Given the description of an element on the screen output the (x, y) to click on. 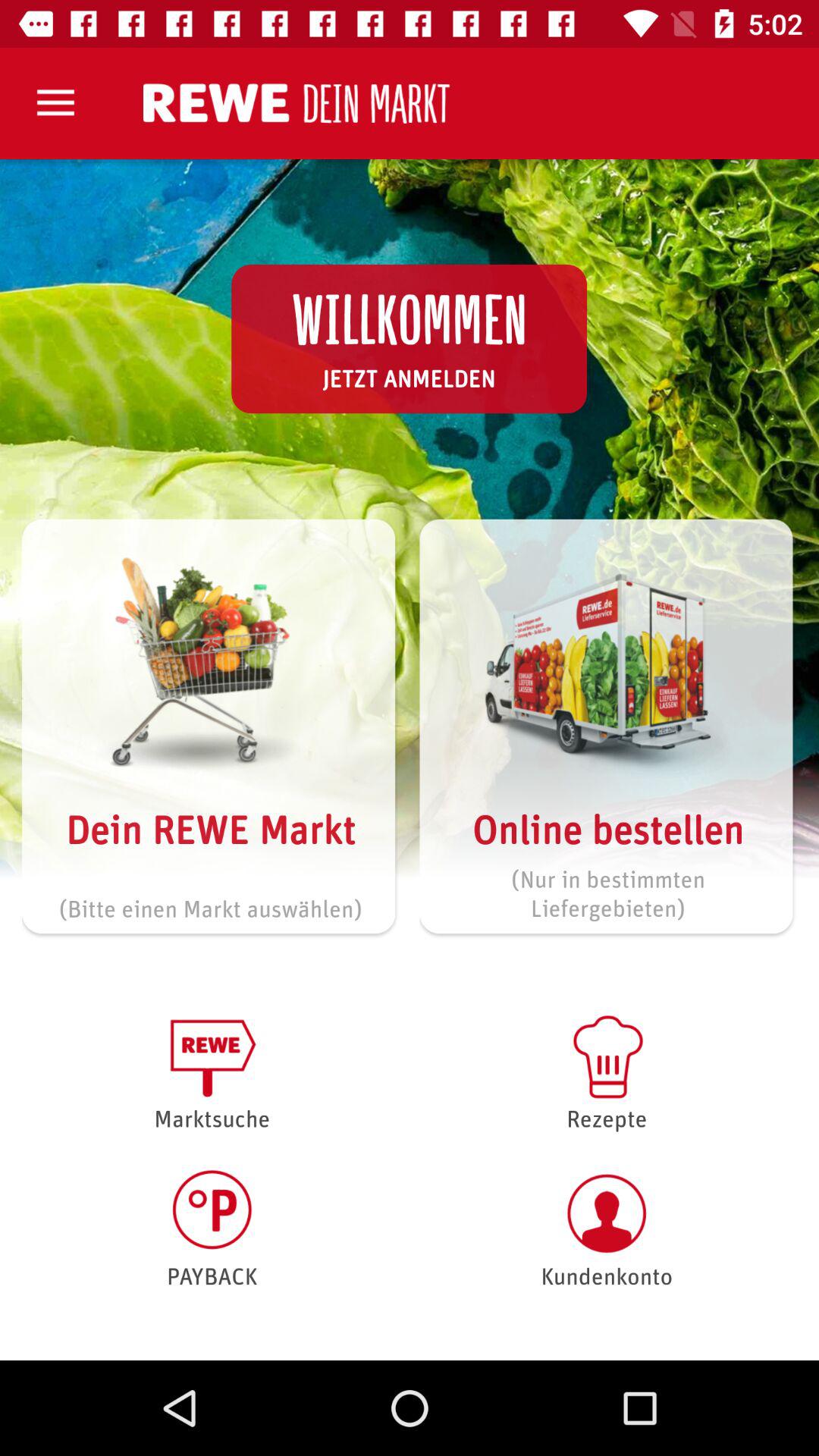
press the item to the right of the marktsuche icon (606, 1070)
